Given the description of an element on the screen output the (x, y) to click on. 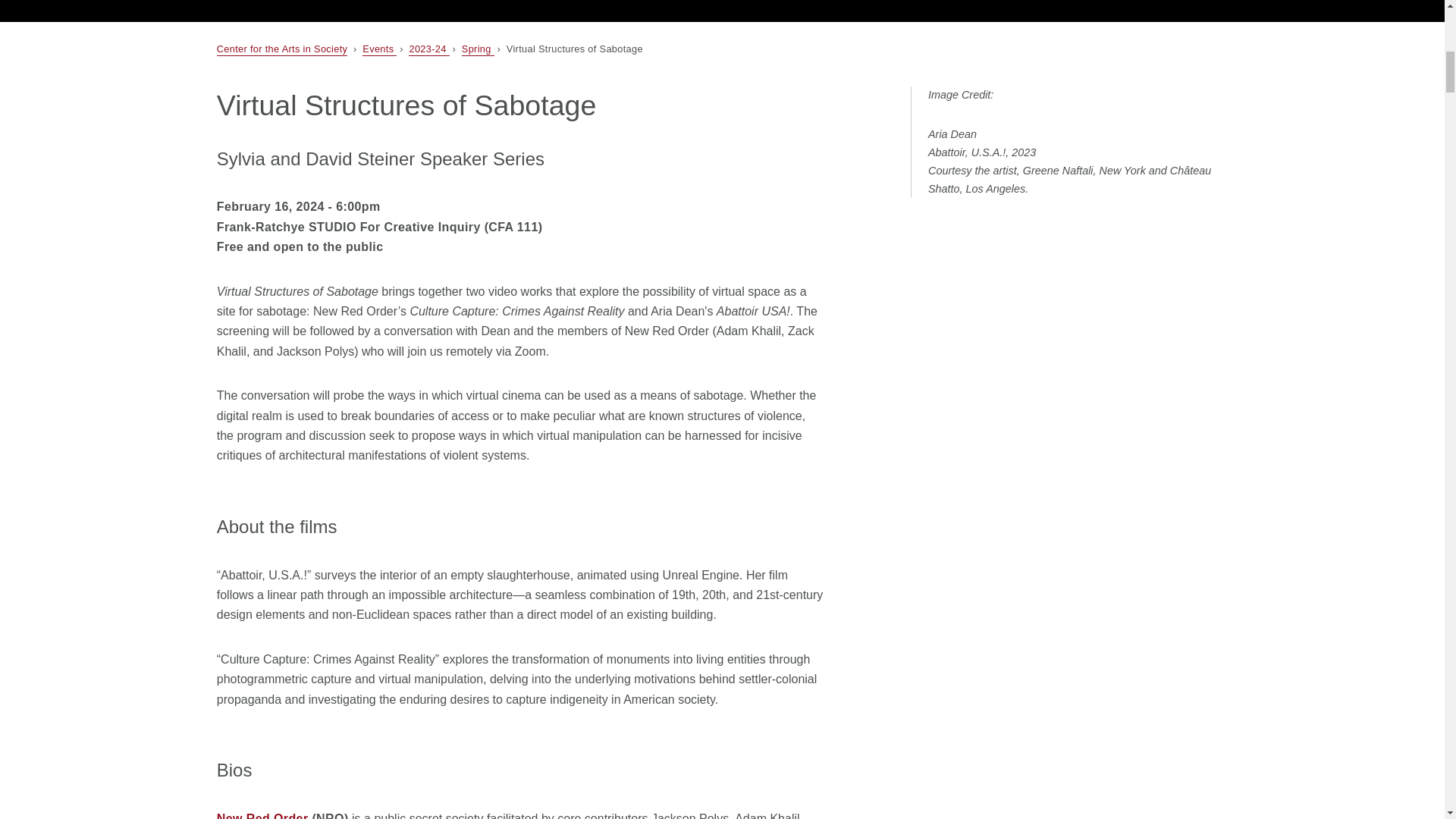
Spring (478, 49)
New Red Order (262, 815)
Events (379, 49)
Center for the Arts in Society (281, 49)
2023-24 (428, 49)
